Given the description of an element on the screen output the (x, y) to click on. 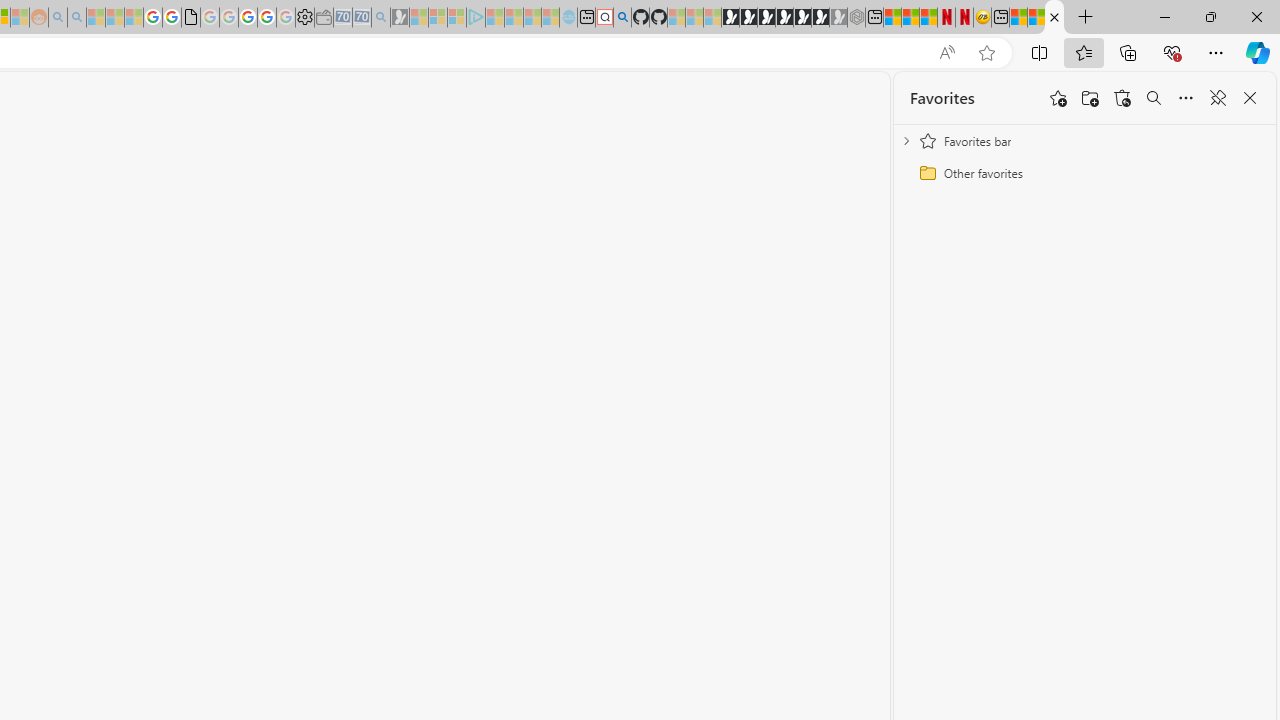
Favorites (1054, 17)
Search favorites (1153, 98)
Wildlife - MSN (1017, 17)
Wallet - Sleeping (323, 17)
